Given the description of an element on the screen output the (x, y) to click on. 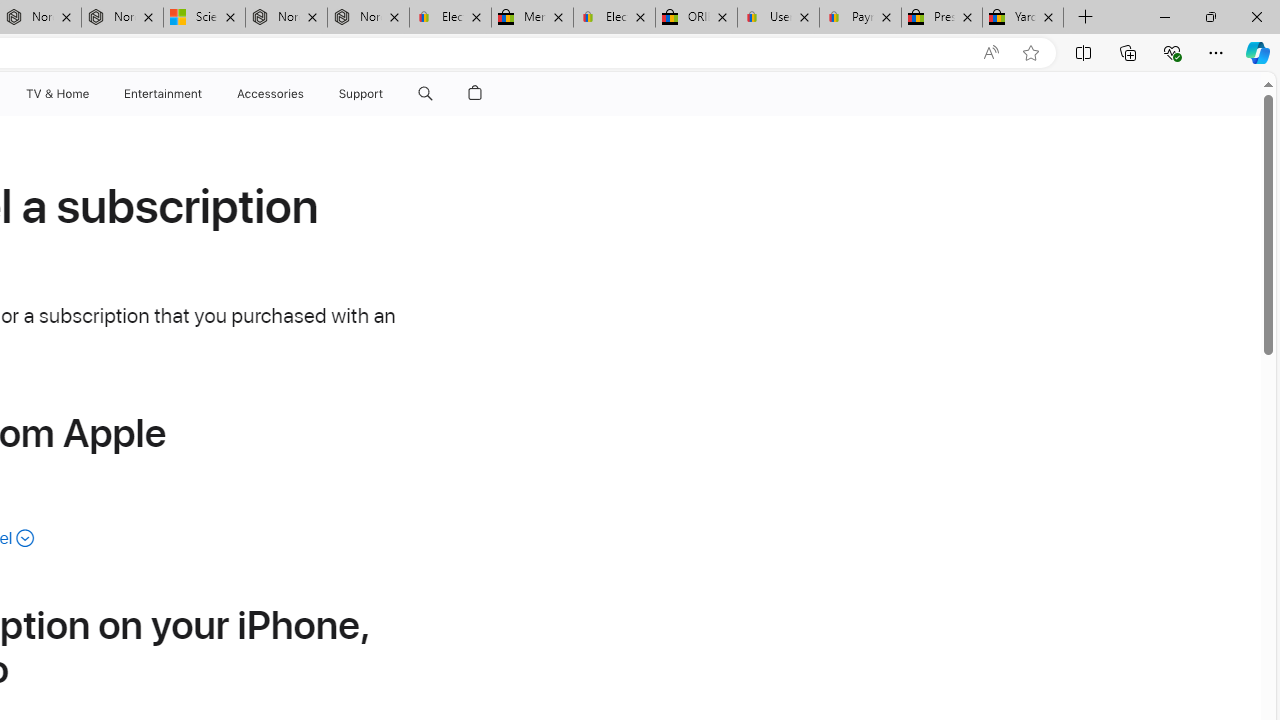
Entertainment menu (205, 93)
Accessories menu (306, 93)
Support (361, 93)
TV and Home menu (92, 93)
TV and Home (56, 93)
Press Room - eBay Inc. (941, 17)
Class: globalnav-item globalnav-search shift-0-1 (425, 93)
Support menu (387, 93)
